Given the description of an element on the screen output the (x, y) to click on. 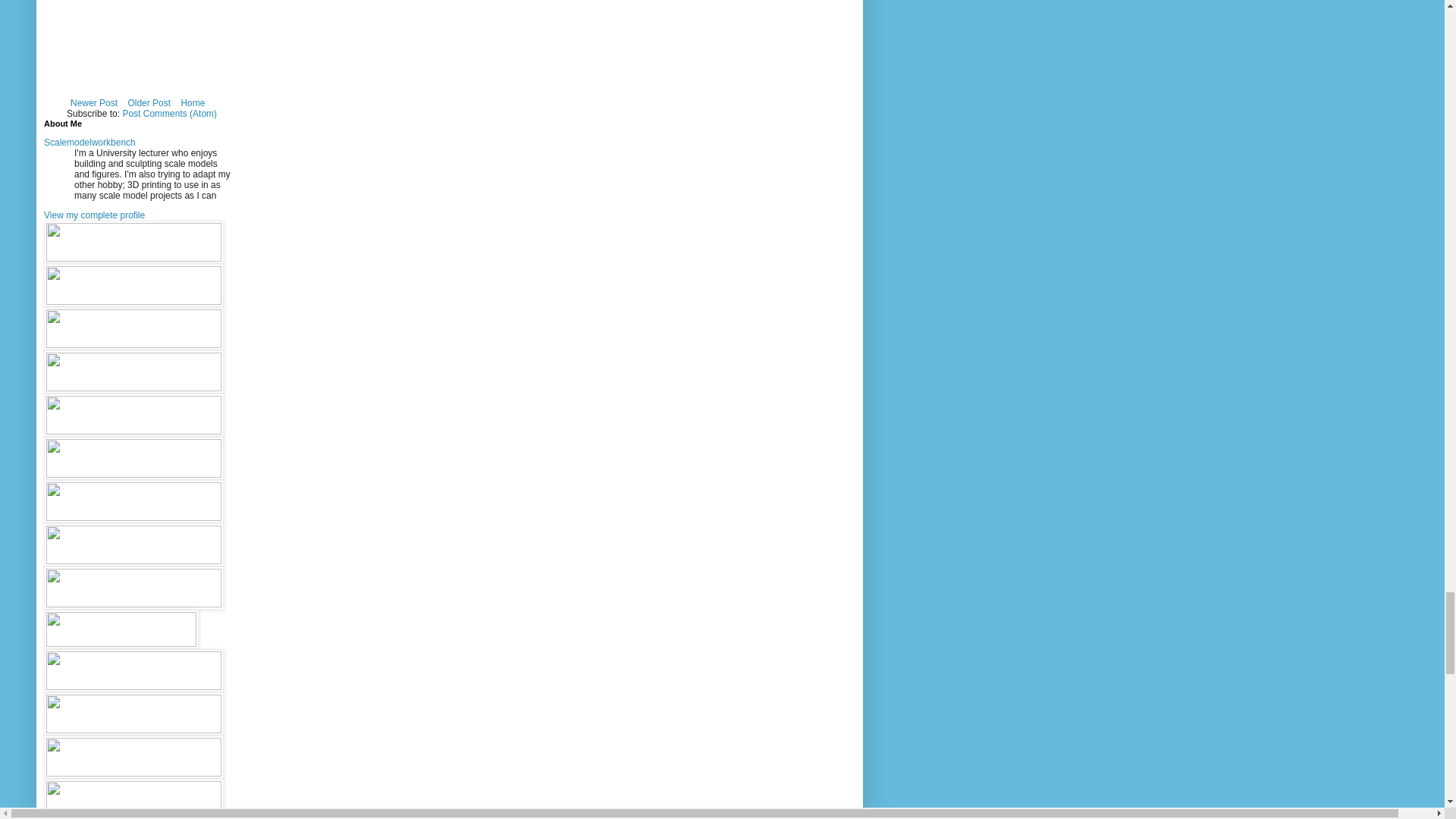
Older Post (148, 103)
Newer Post (93, 103)
